Given the description of an element on the screen output the (x, y) to click on. 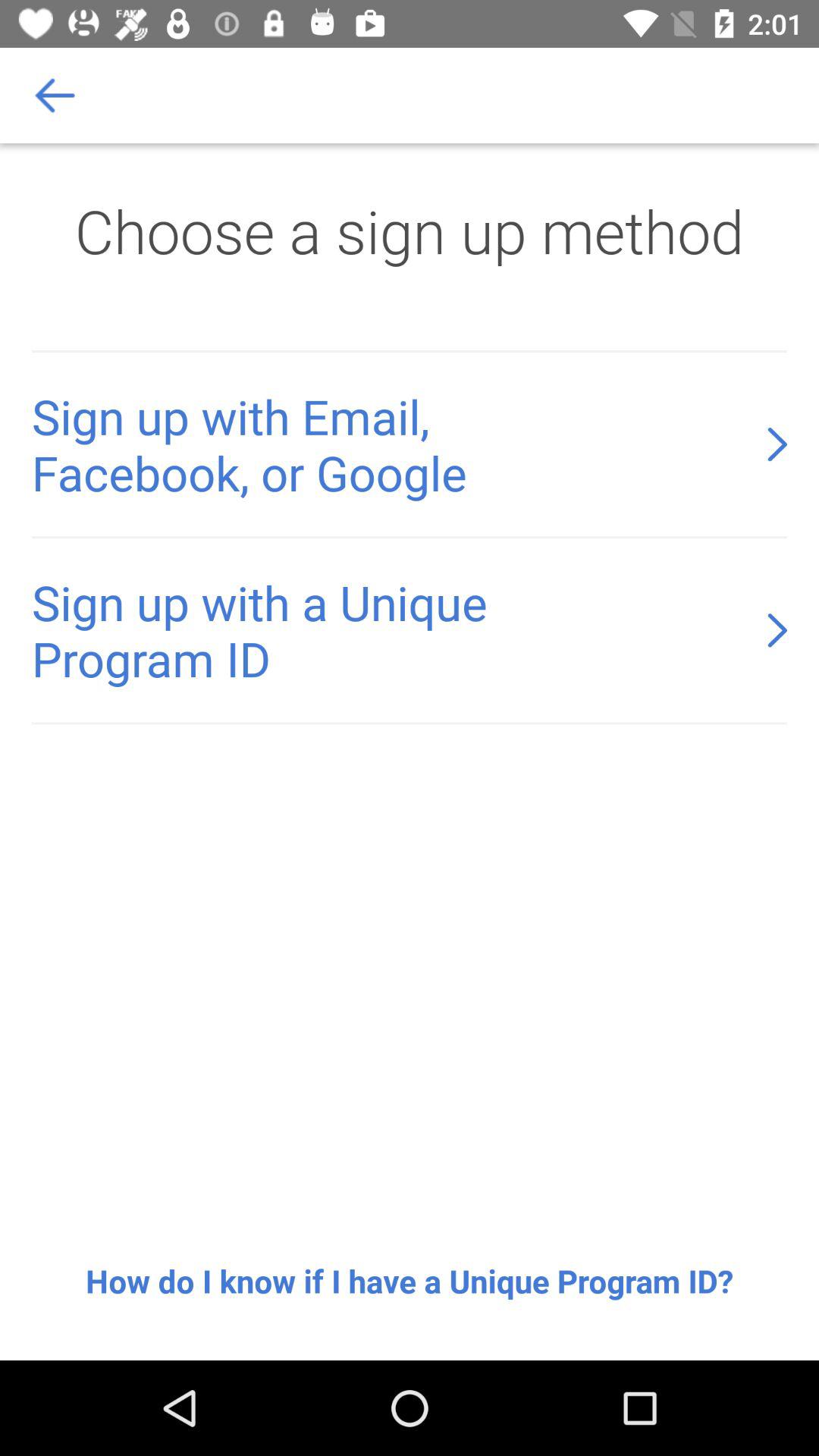
turn off the icon above choose a sign item (55, 95)
